Given the description of an element on the screen output the (x, y) to click on. 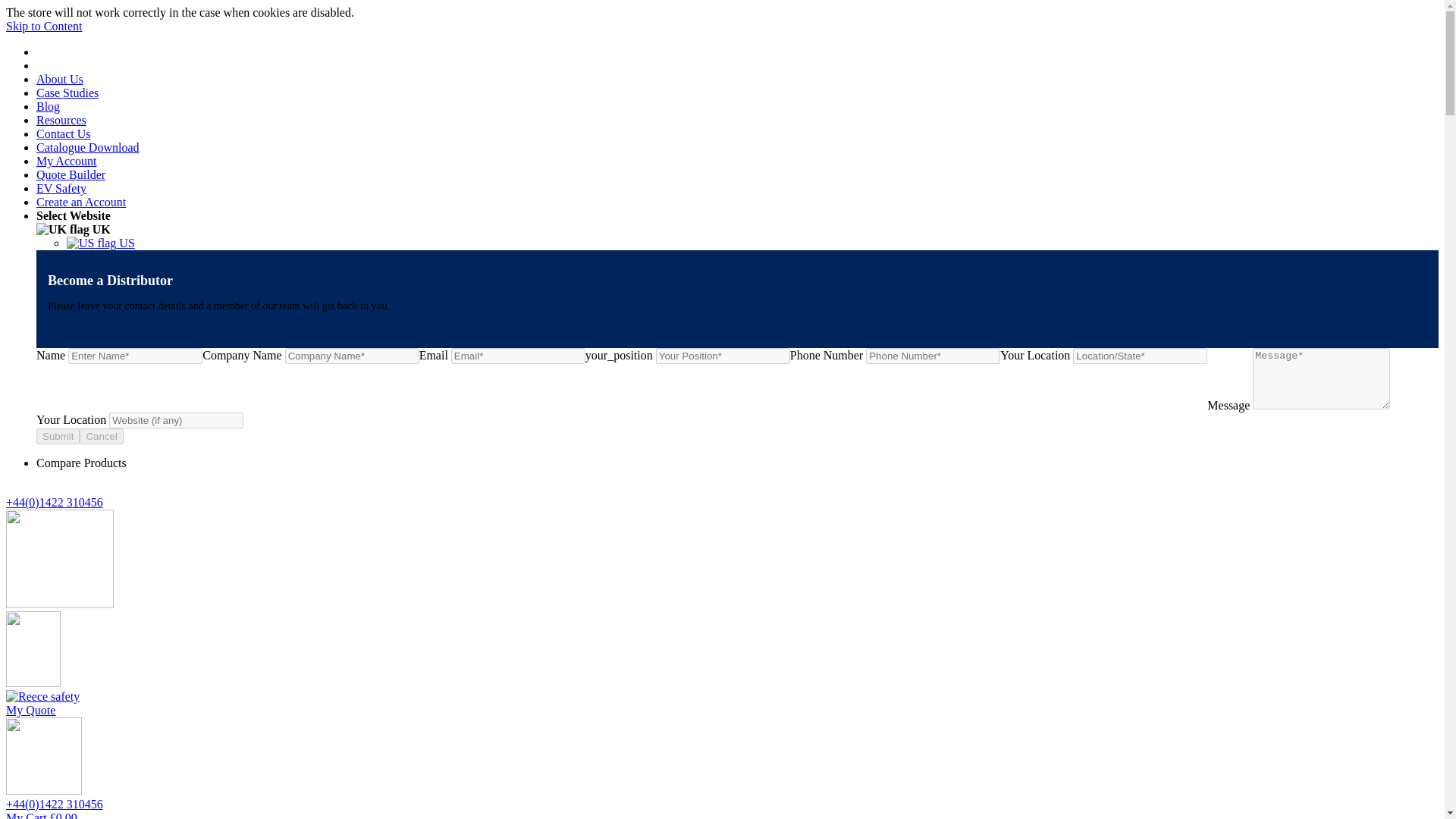
Cancel (101, 436)
Blog (47, 106)
Compare Products (81, 462)
Submit (58, 436)
UK flag (62, 229)
Reece safety (42, 696)
My Quote (30, 709)
About Us (59, 78)
Catalogue Download (87, 146)
Case Studies (67, 92)
Contact Us (63, 133)
US (100, 242)
Quote Builder (70, 174)
My Account (66, 160)
EV Safety (60, 187)
